Given the description of an element on the screen output the (x, y) to click on. 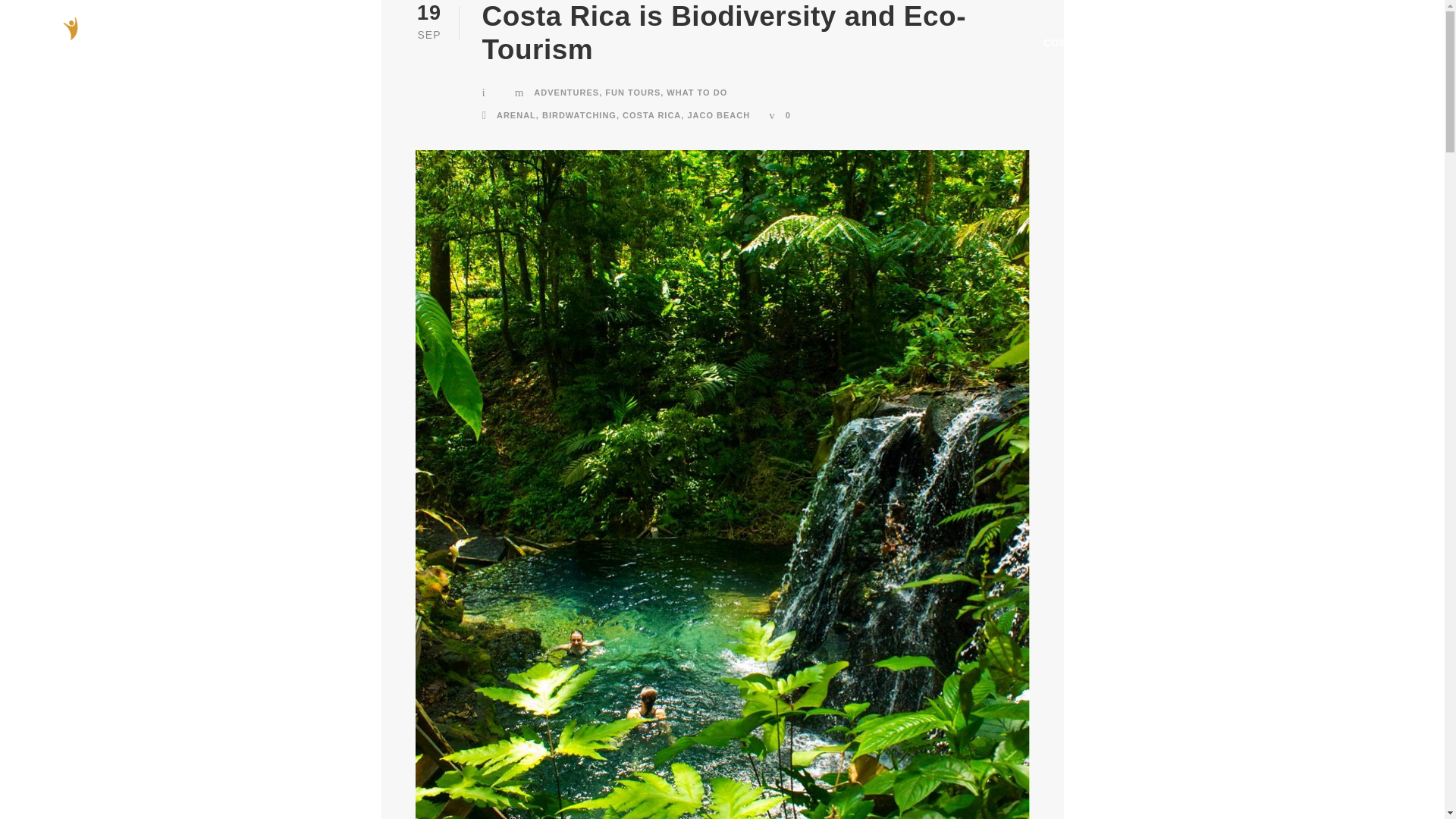
ADVENTURES (566, 92)
JACO BEACH (718, 114)
COSTA RICA (652, 114)
COSTA RICA TOURS (1095, 60)
CONTACT US (1370, 60)
WHAT TO DO (696, 92)
FUN TOURS (633, 92)
ACTIVITIES (1209, 60)
ARENAL (515, 114)
BIRDWATCHING (578, 114)
